Given the description of an element on the screen output the (x, y) to click on. 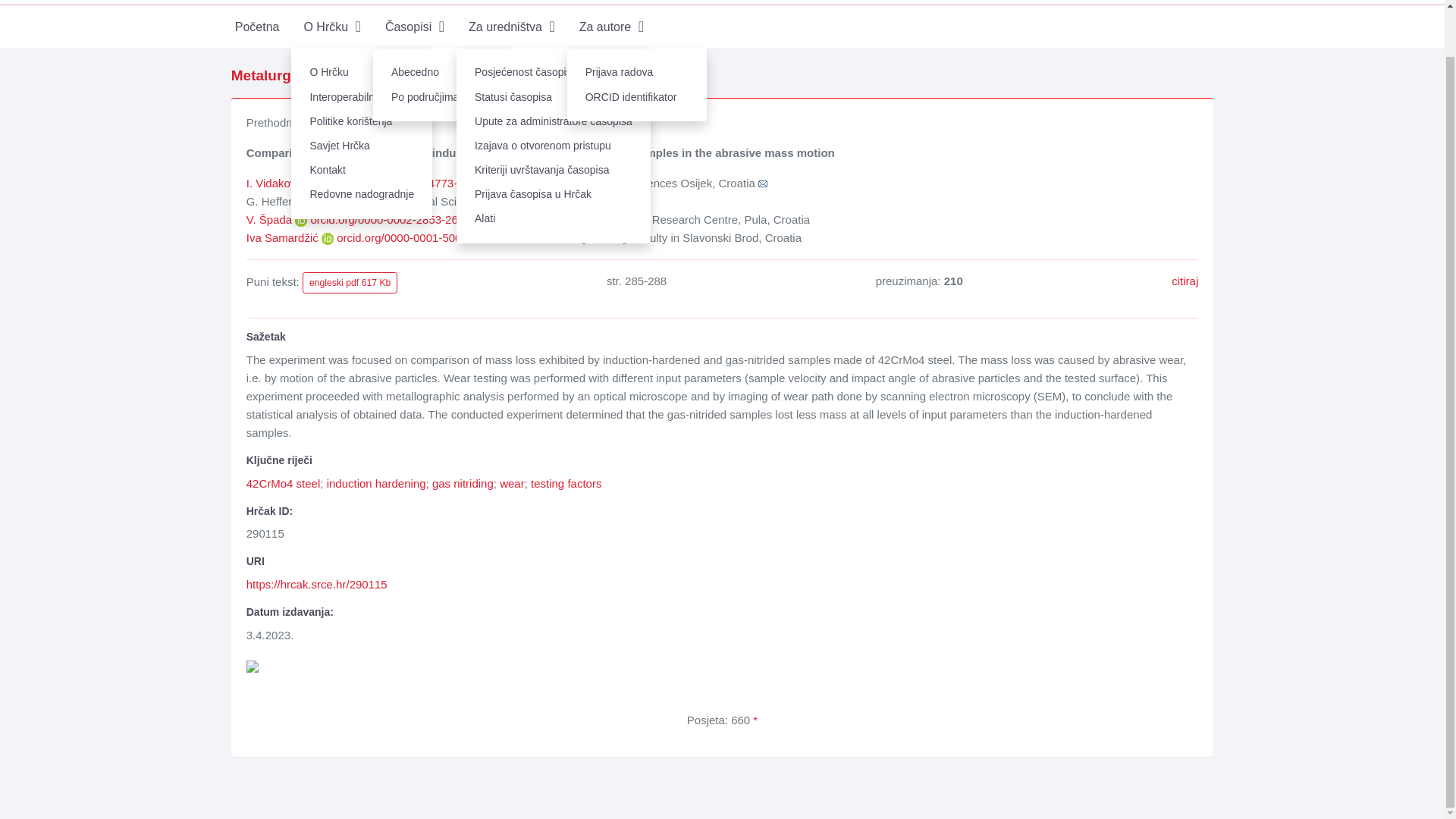
Za autore (611, 26)
ORCID identifikator (636, 96)
Prijava radova (636, 72)
Abecedno (442, 72)
Interoperabilnost (361, 96)
mail (762, 183)
Kontakt (361, 170)
Vol. 62 No. 2 (357, 75)
Izajava o otvorenom pristupu (553, 145)
Alati (553, 218)
